Given the description of an element on the screen output the (x, y) to click on. 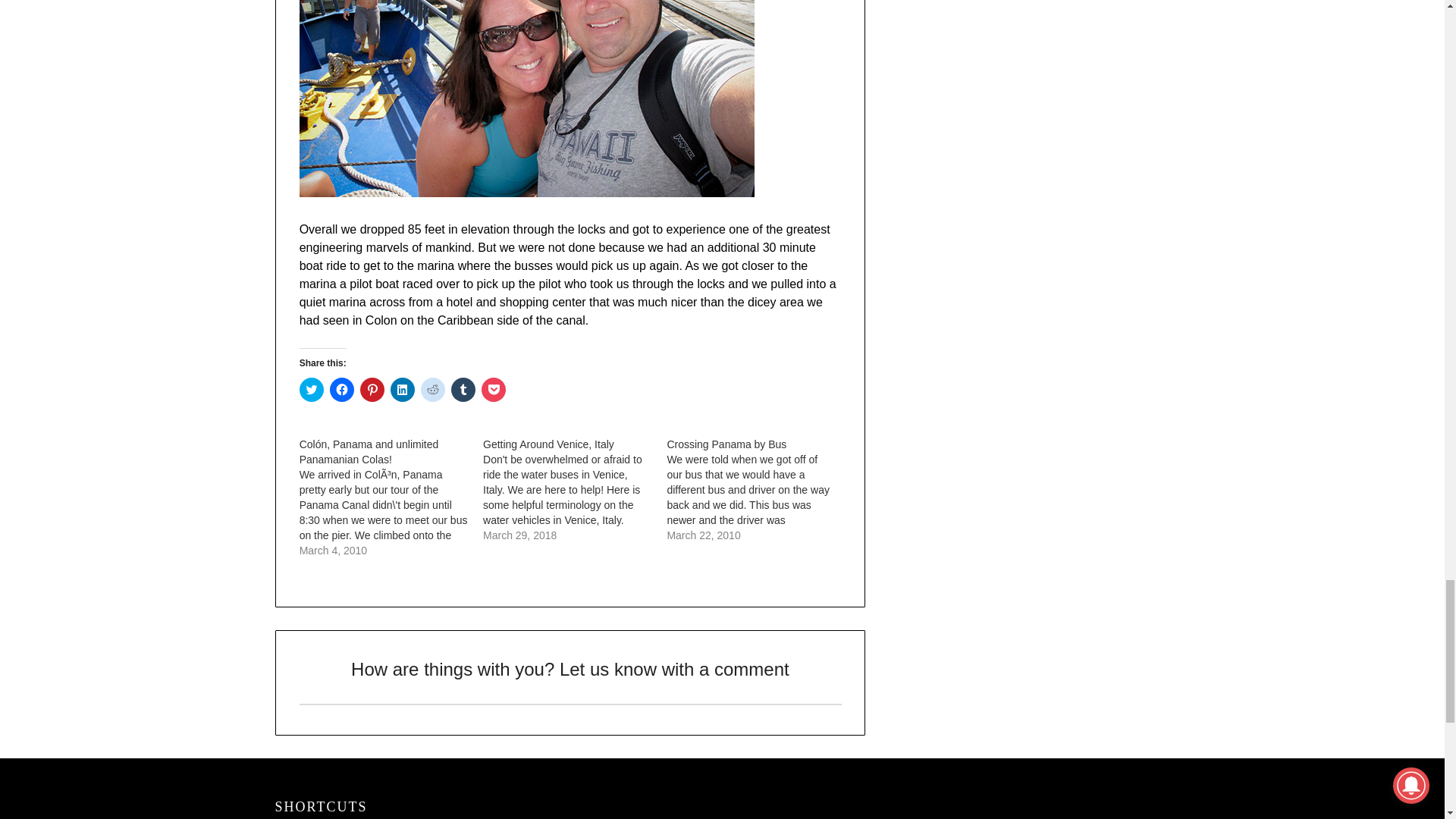
Crossing Panama by Bus (758, 489)
Click to share on Reddit (432, 389)
Getting Around Venice, Italy (548, 444)
Getting Around Venice, Italy (574, 489)
Click to share on Facebook (341, 389)
Click to share on Pocket (493, 389)
Click to share on Twitter (311, 389)
Click to share on Pinterest (371, 389)
Click to share on Tumblr (463, 389)
Crossing Panama by Bus (726, 444)
Getting Around Venice, Italy (548, 444)
Click to share on LinkedIn (402, 389)
